Given the description of an element on the screen output the (x, y) to click on. 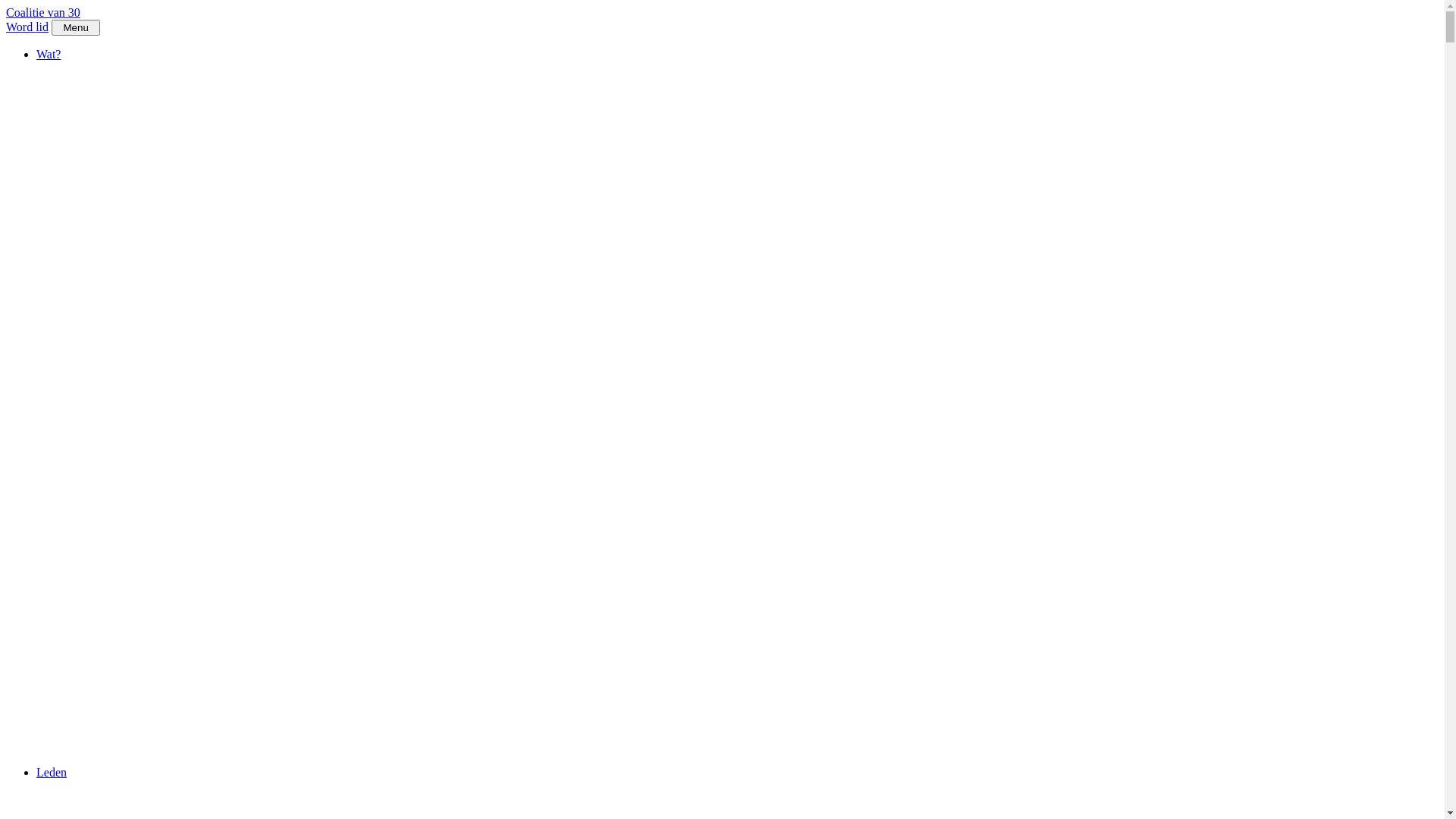
Coalitie van 30 Element type: text (43, 12)
Wat? Element type: text (48, 53)
Leden Element type: text (51, 771)
  Menu   Element type: text (75, 27)
Word lid Element type: text (27, 26)
